Given the description of an element on the screen output the (x, y) to click on. 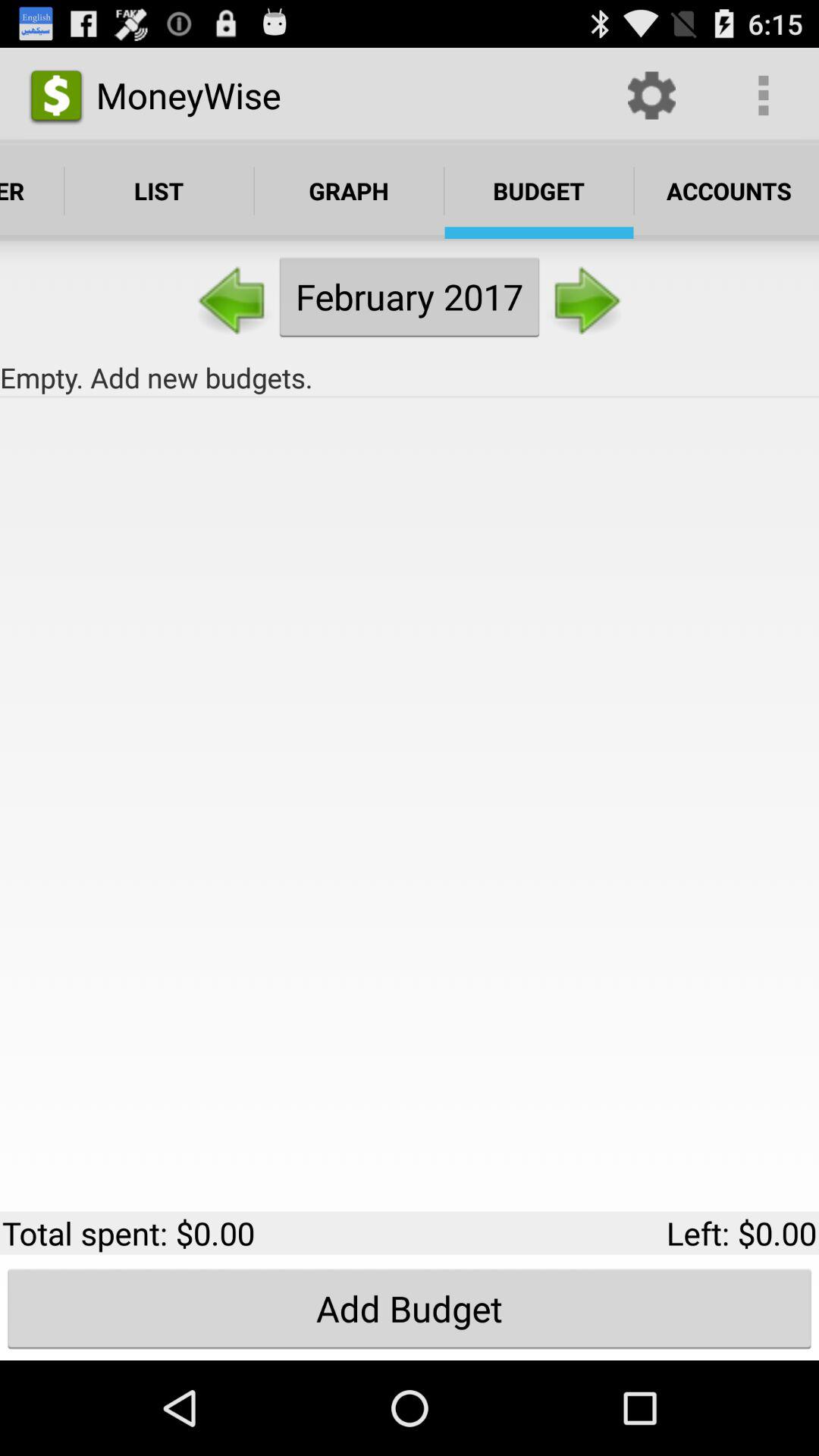
launch the icon below the total spent 0 icon (409, 1308)
